Given the description of an element on the screen output the (x, y) to click on. 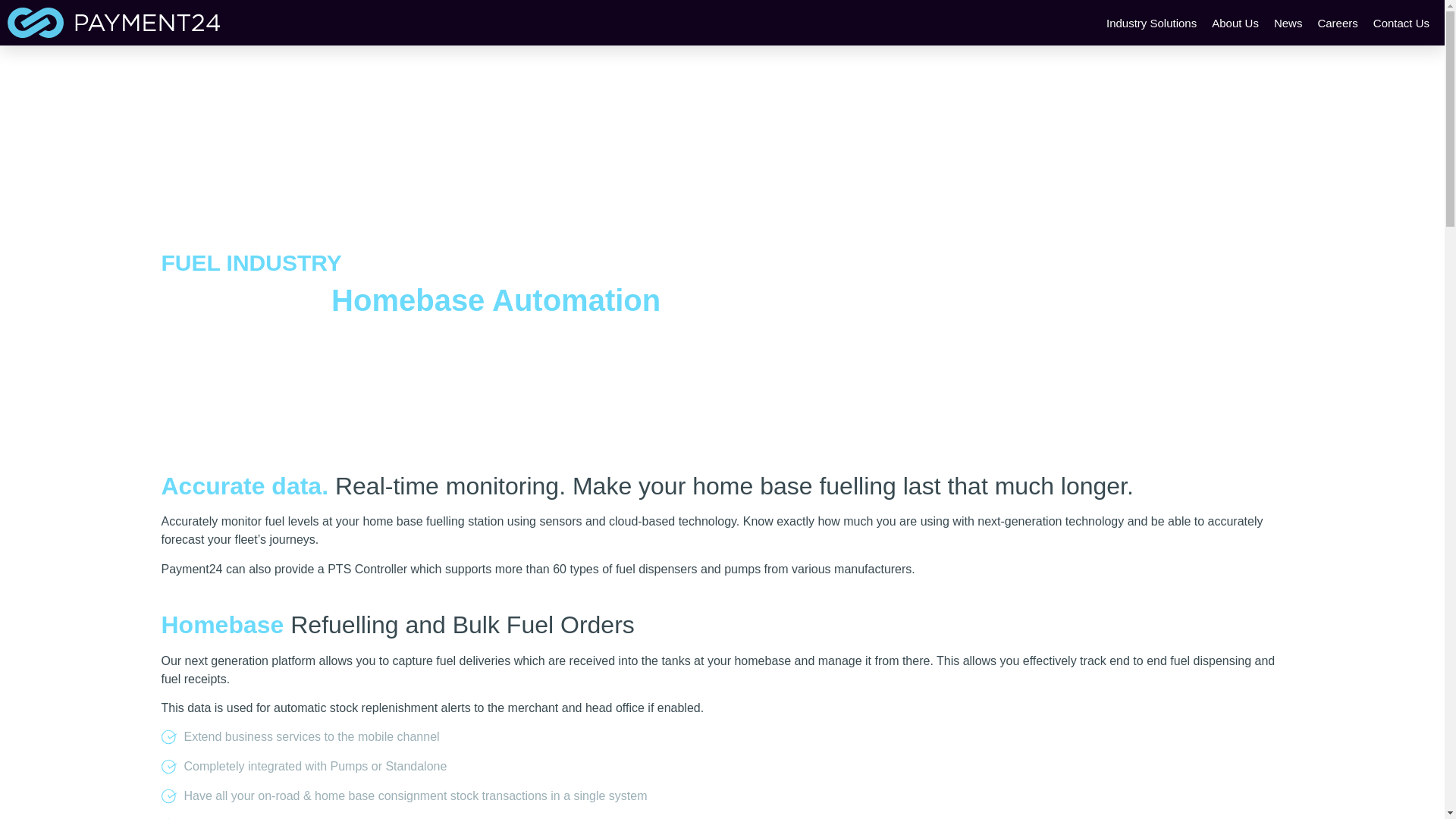
Careers (1336, 22)
About Us (1235, 22)
Industry Solutions (1151, 22)
Contact Us (1401, 22)
